Given the description of an element on the screen output the (x, y) to click on. 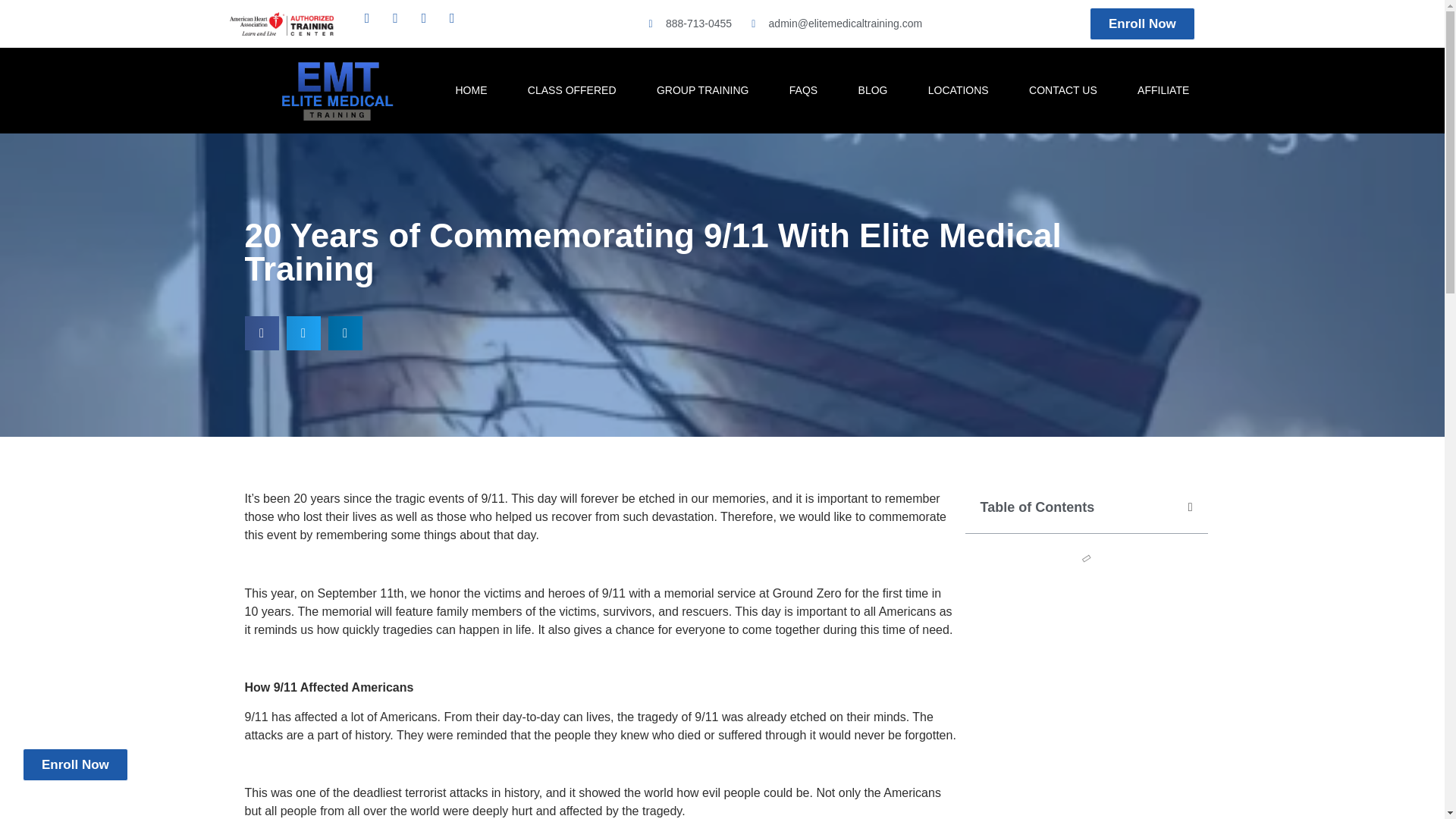
HOME (470, 90)
CONTACT US (1062, 90)
888-713-0455 (687, 23)
GROUP TRAINING (703, 90)
LOCATIONS (958, 90)
Enroll Now (1142, 23)
CLASS OFFERED (571, 90)
AFFILIATE (1163, 90)
FAQS (803, 90)
BLOG (872, 90)
